Given the description of an element on the screen output the (x, y) to click on. 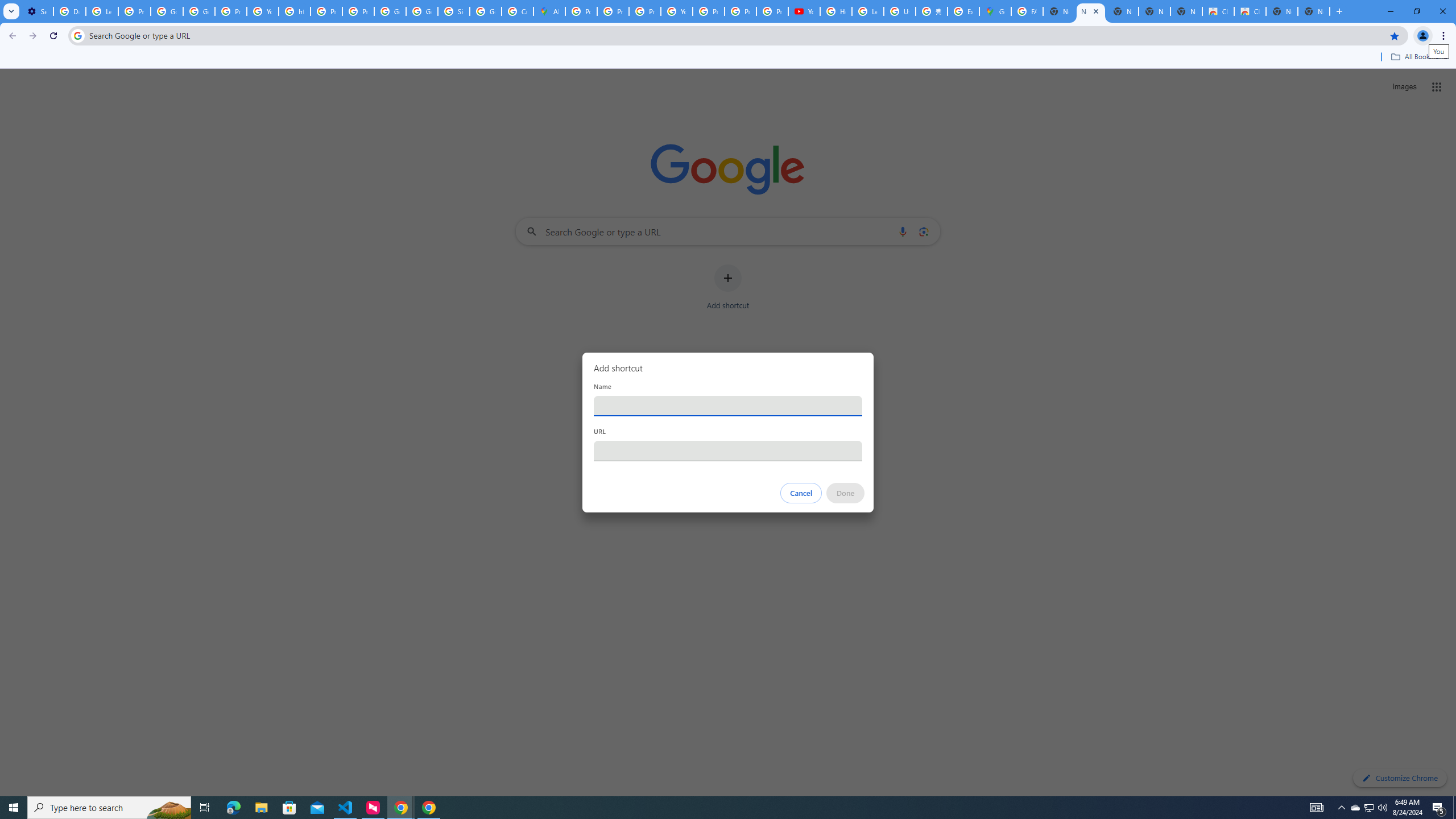
URL (727, 450)
Sign in - Google Accounts (453, 11)
Learn how to find your photos - Google Photos Help (101, 11)
Search icon (77, 35)
Create your Google Account (517, 11)
Privacy Help Center - Policies Help (644, 11)
Privacy Help Center - Policies Help (613, 11)
Privacy Checkup (740, 11)
Privacy Help Center - Policies Help (326, 11)
